Given the description of an element on the screen output the (x, y) to click on. 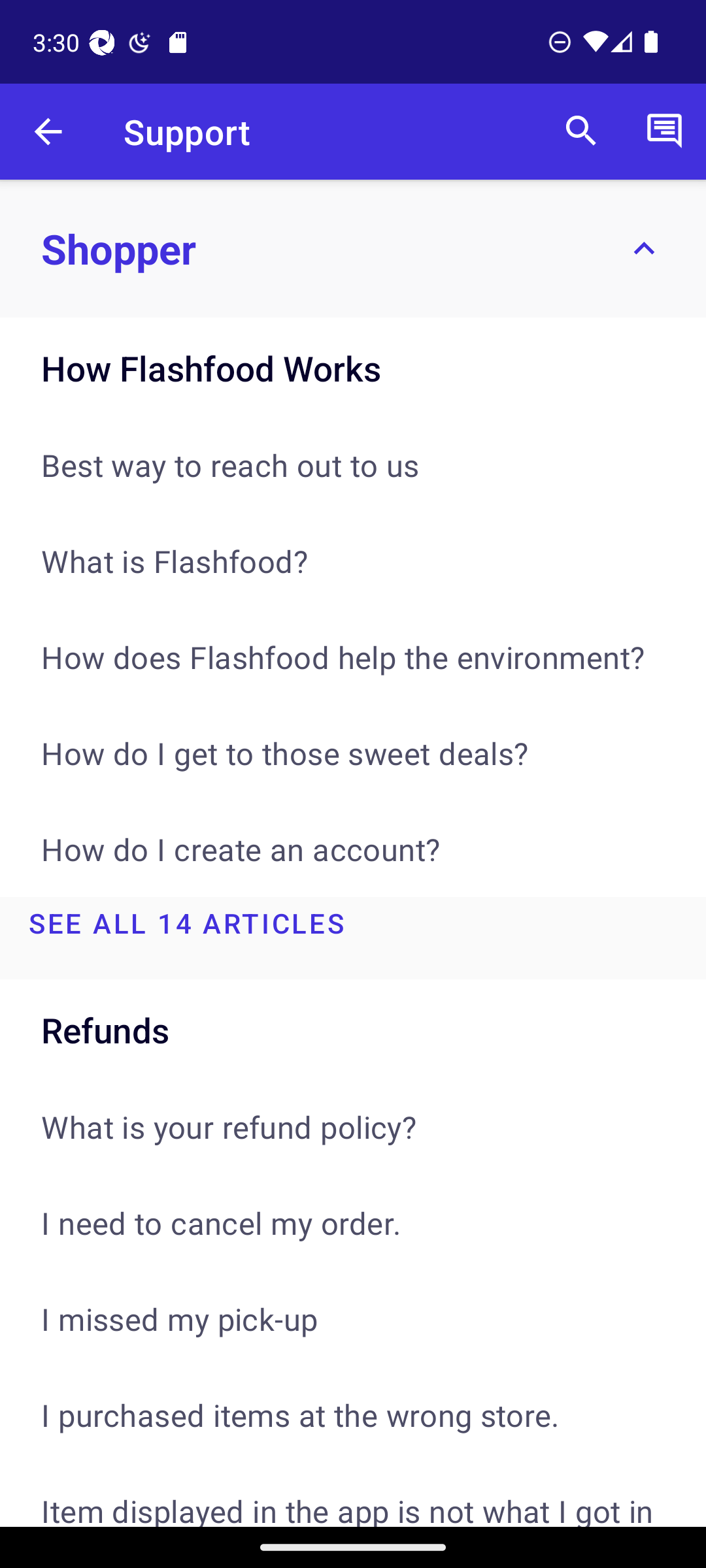
Navigate up (48, 131)
Search (581, 131)
Conversations (664, 131)
Shopper (353, 248)
Best way to reach out to us  (353, 464)
What is Flashfood? (353, 560)
How does Flashfood help the environment?  (353, 656)
How do I get to those sweet deals? (353, 753)
How do I create an account? (353, 848)
SEE ALL 14 ARTICLES (353, 938)
What is your refund policy? (353, 1126)
I need to cancel my order. (353, 1222)
I missed my pick-up  (353, 1318)
I purchased items at the wrong store. (353, 1414)
